Given the description of an element on the screen output the (x, y) to click on. 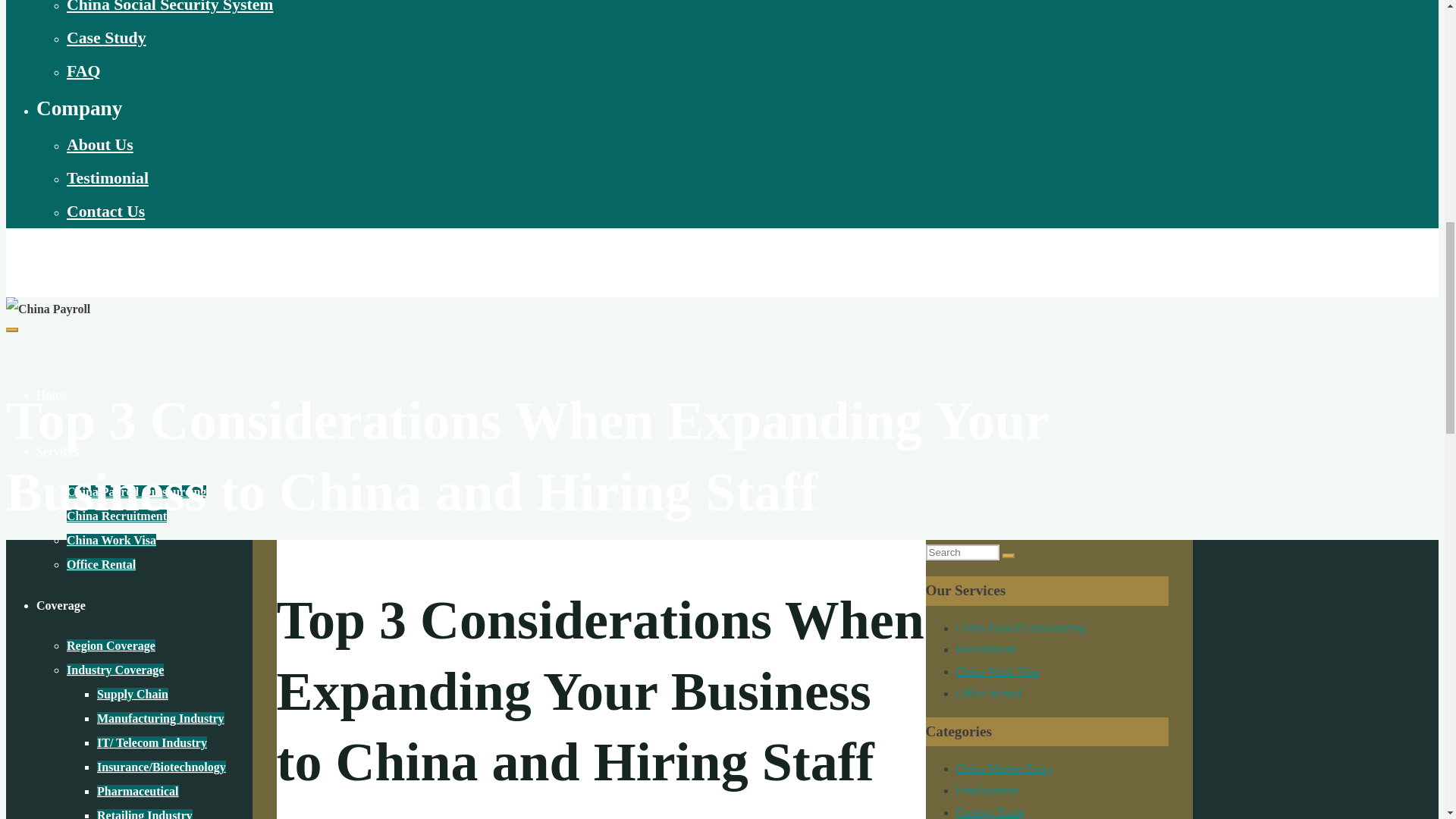
About Us (99, 144)
FAQ (83, 71)
Services (57, 451)
China Work Visa (110, 540)
Contact Us (105, 211)
Coverage (60, 604)
Industry Coverage (114, 669)
China Social Security System (169, 6)
Office Rental (100, 563)
China Recruitment (116, 515)
